Given the description of an element on the screen output the (x, y) to click on. 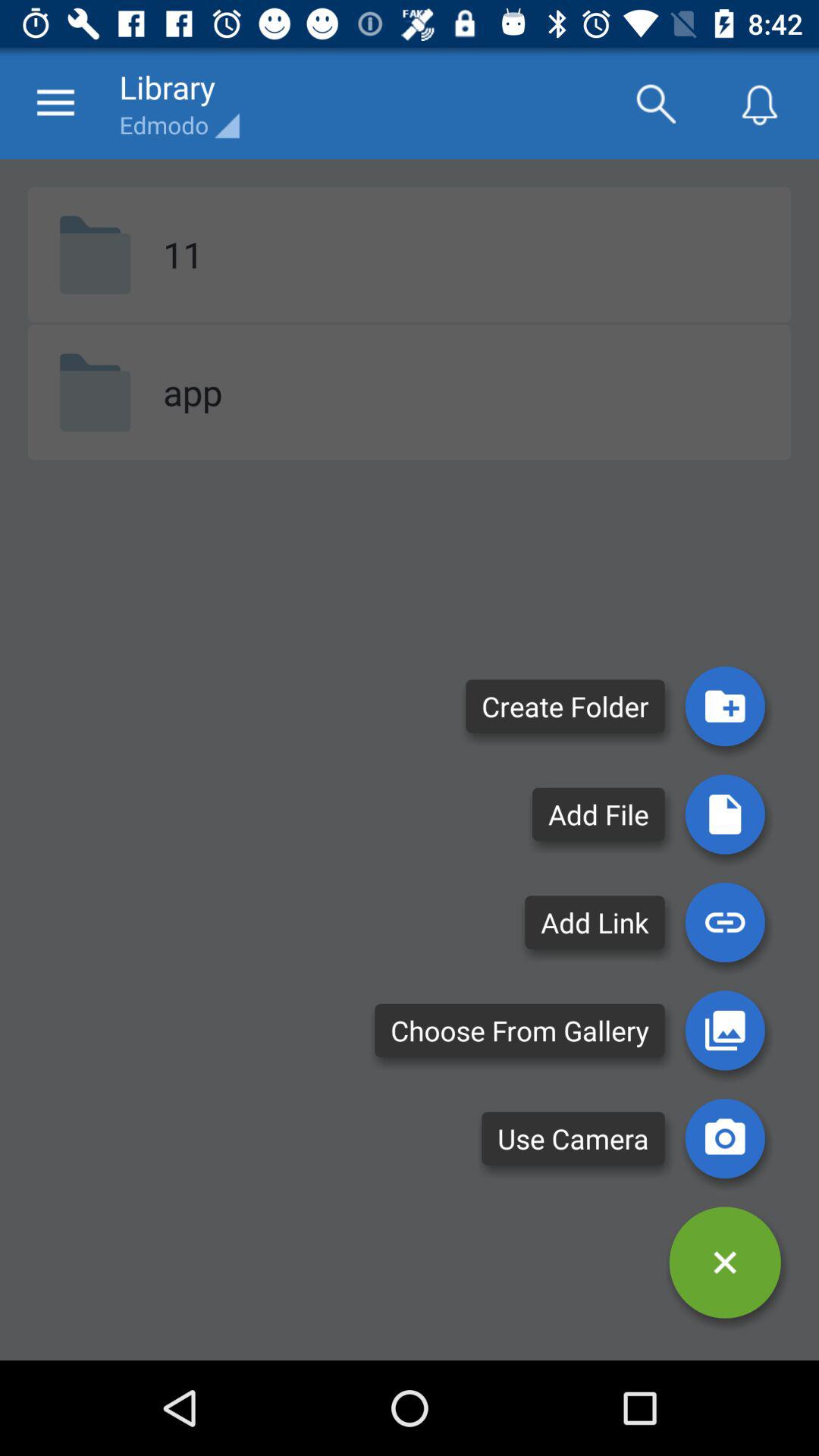
open the item next to the library icon (55, 103)
